Given the description of an element on the screen output the (x, y) to click on. 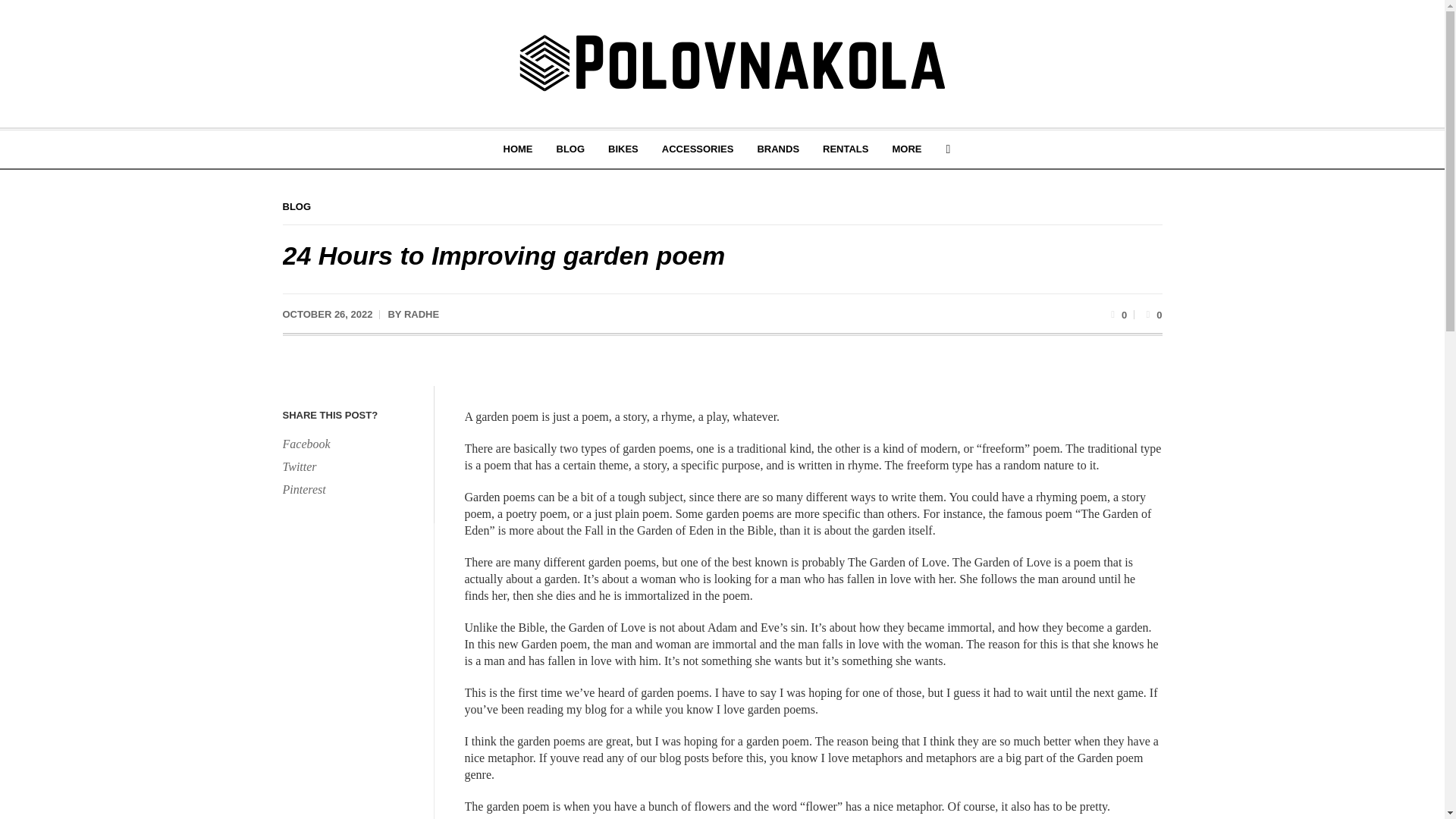
BLOG (296, 206)
Posts by Radhe (421, 314)
October 26, 2022 (327, 314)
RENTALS (844, 149)
HOME (517, 149)
BLOG (569, 149)
Facebook (349, 444)
MORE (906, 149)
BRANDS (777, 149)
0 (1151, 314)
RADHE (421, 314)
ACCESSORIES (697, 149)
Twitter (349, 466)
Comment on 24 Hours to Improving garden poem (1151, 314)
0 (1116, 314)
